Given the description of an element on the screen output the (x, y) to click on. 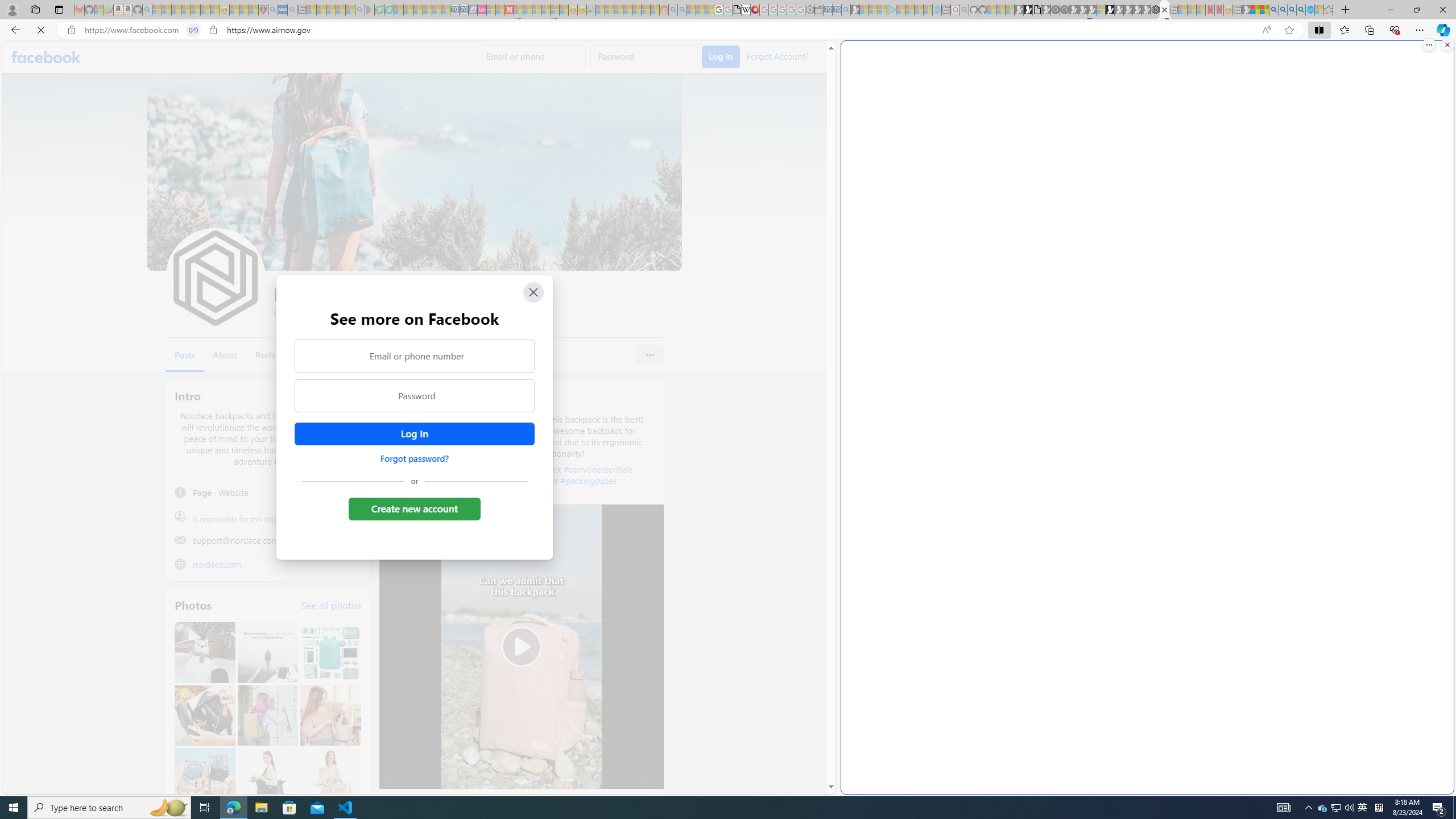
Bing AI - Search (1272, 9)
Jobs - lastminute.com Investor Portal - Sleeping (482, 9)
Forgot password? (414, 458)
Robert H. Shmerling, MD - Harvard Health - Sleeping (263, 9)
